Given the description of an element on the screen output the (x, y) to click on. 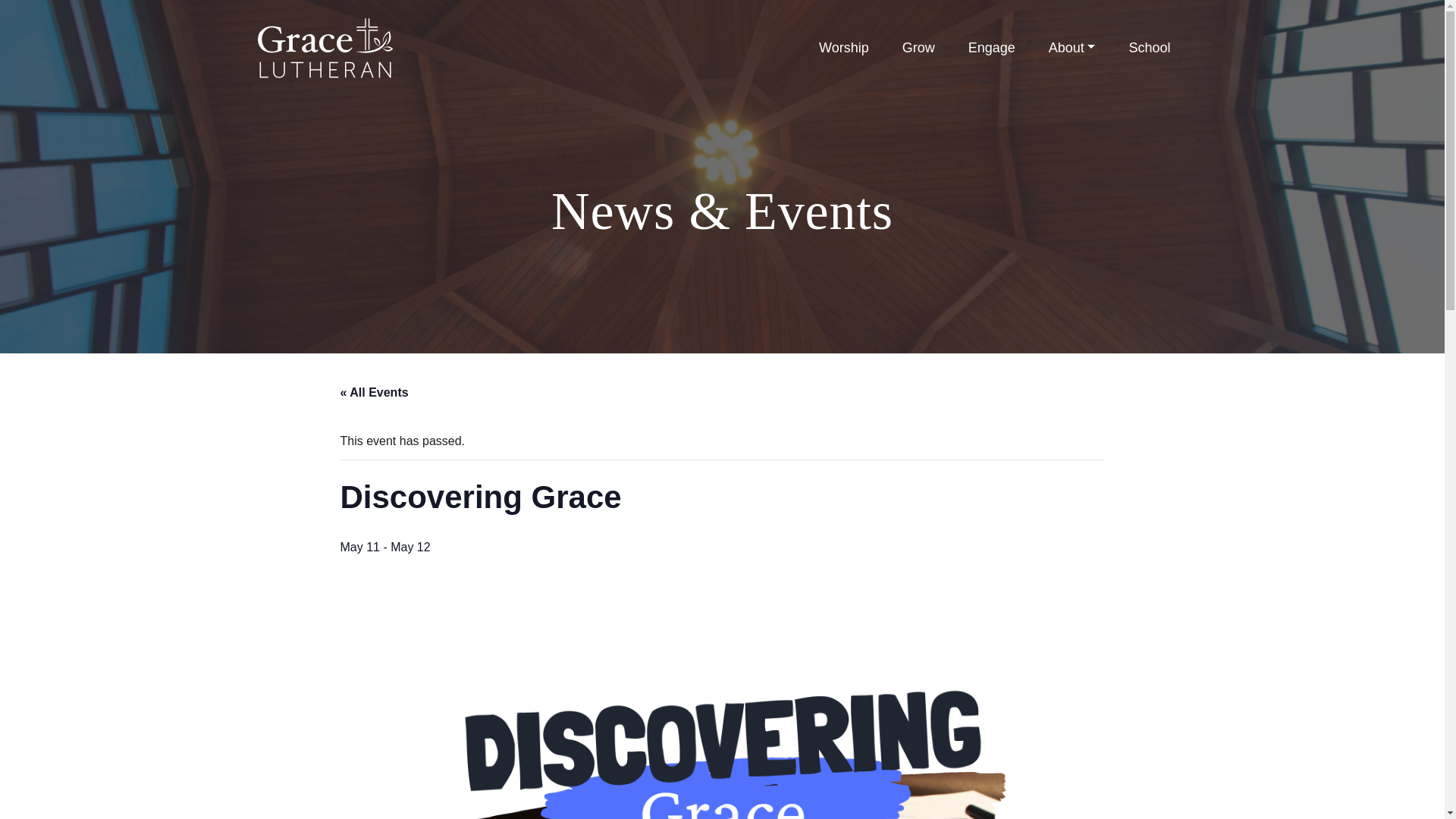
Engage (992, 47)
Grace Lutheran Church (325, 47)
Worship (843, 47)
Grow (918, 47)
School (1149, 47)
About (1072, 47)
